Given the description of an element on the screen output the (x, y) to click on. 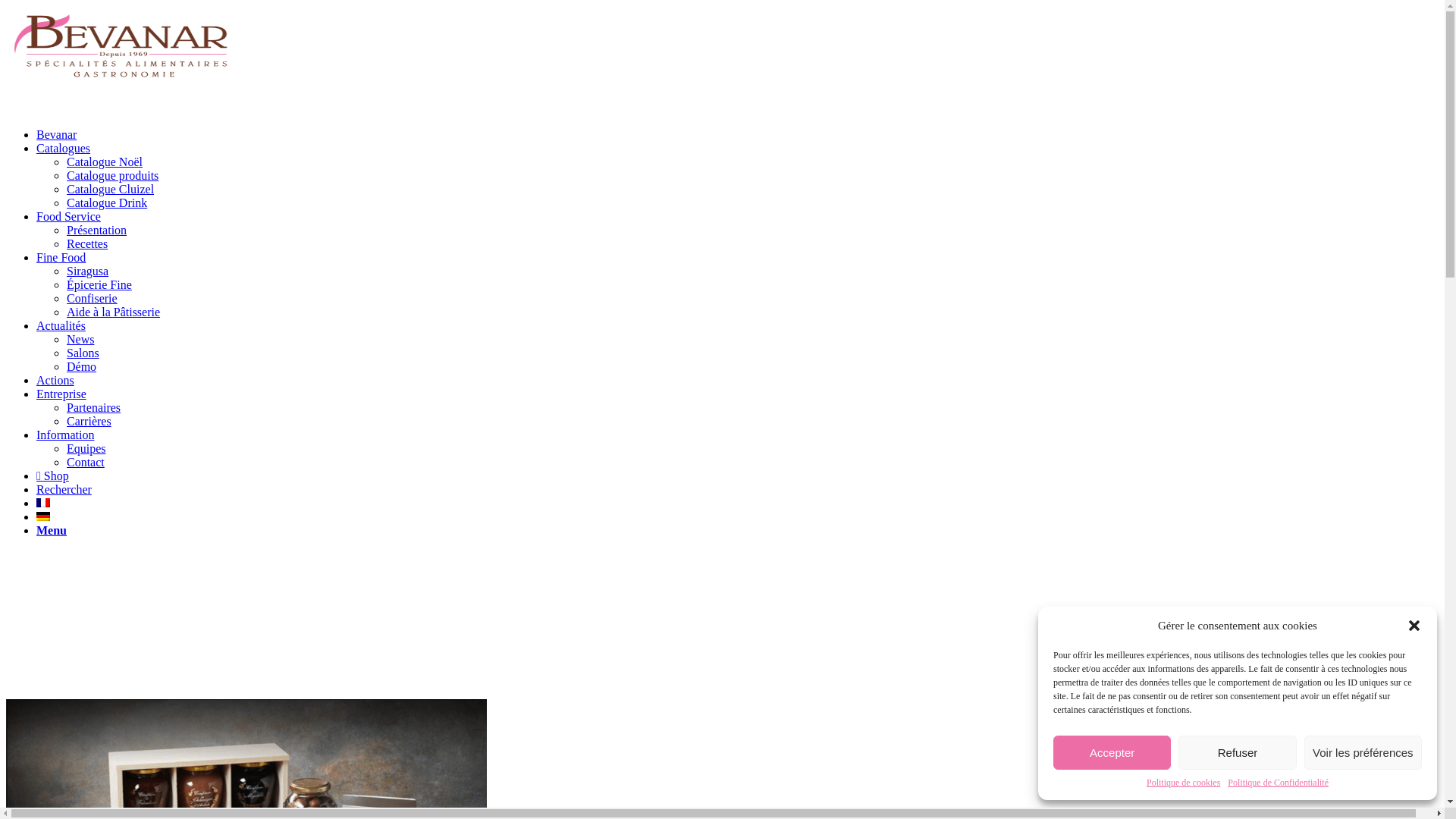
Siragusa Element type: text (87, 270)
Rechercher Element type: text (63, 489)
Catalogue Drink Element type: text (106, 202)
Partenaires Element type: text (93, 407)
Politique de cookies Element type: text (1183, 782)
Accepter Element type: text (1111, 752)
News Element type: text (80, 338)
Catalogue produits Element type: text (112, 175)
Fine Food Element type: text (60, 257)
Catalogues Element type: text (63, 147)
Equipes Element type: text (86, 448)
Salons Element type: text (82, 352)
Contact Element type: text (85, 461)
Refuser Element type: text (1236, 752)
Menu Element type: text (51, 530)
Food Service Element type: text (68, 216)
Catalogue Cluizel Element type: text (109, 188)
Recettes Element type: text (86, 243)
Bevanar Element type: text (56, 134)
Deutsch Element type: hover (43, 515)
Actions Element type: text (55, 379)
Entreprise Element type: text (61, 393)
Confiserie Element type: text (91, 297)
Information Element type: text (65, 434)
